Given the description of an element on the screen output the (x, y) to click on. 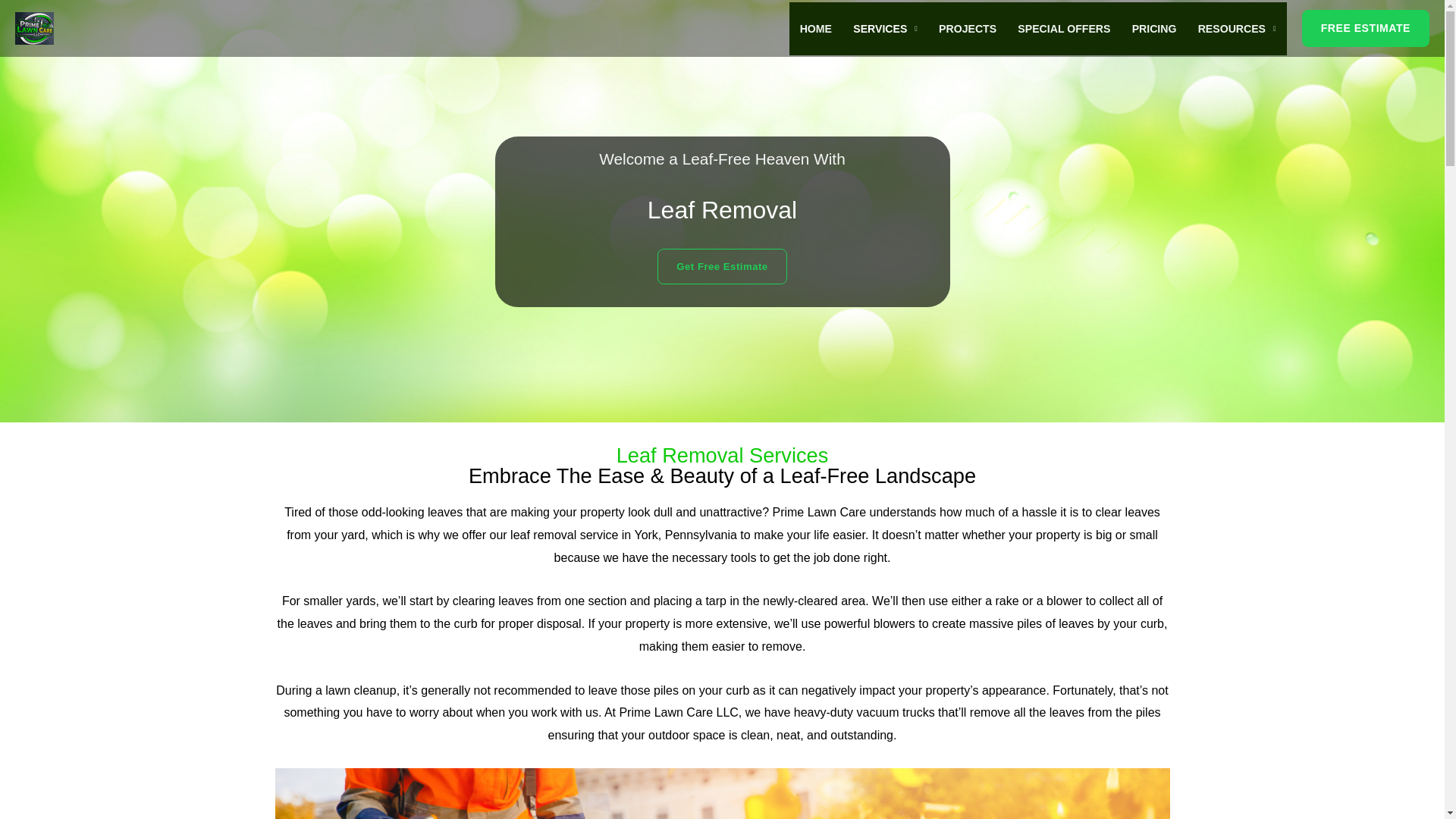
PRICING (1154, 27)
PROJECTS (967, 27)
SPECIAL OFFERS (1064, 27)
HOME (816, 27)
SERVICES (885, 27)
RESOURCES (1237, 27)
FREE ESTIMATE (1365, 27)
